Given the description of an element on the screen output the (x, y) to click on. 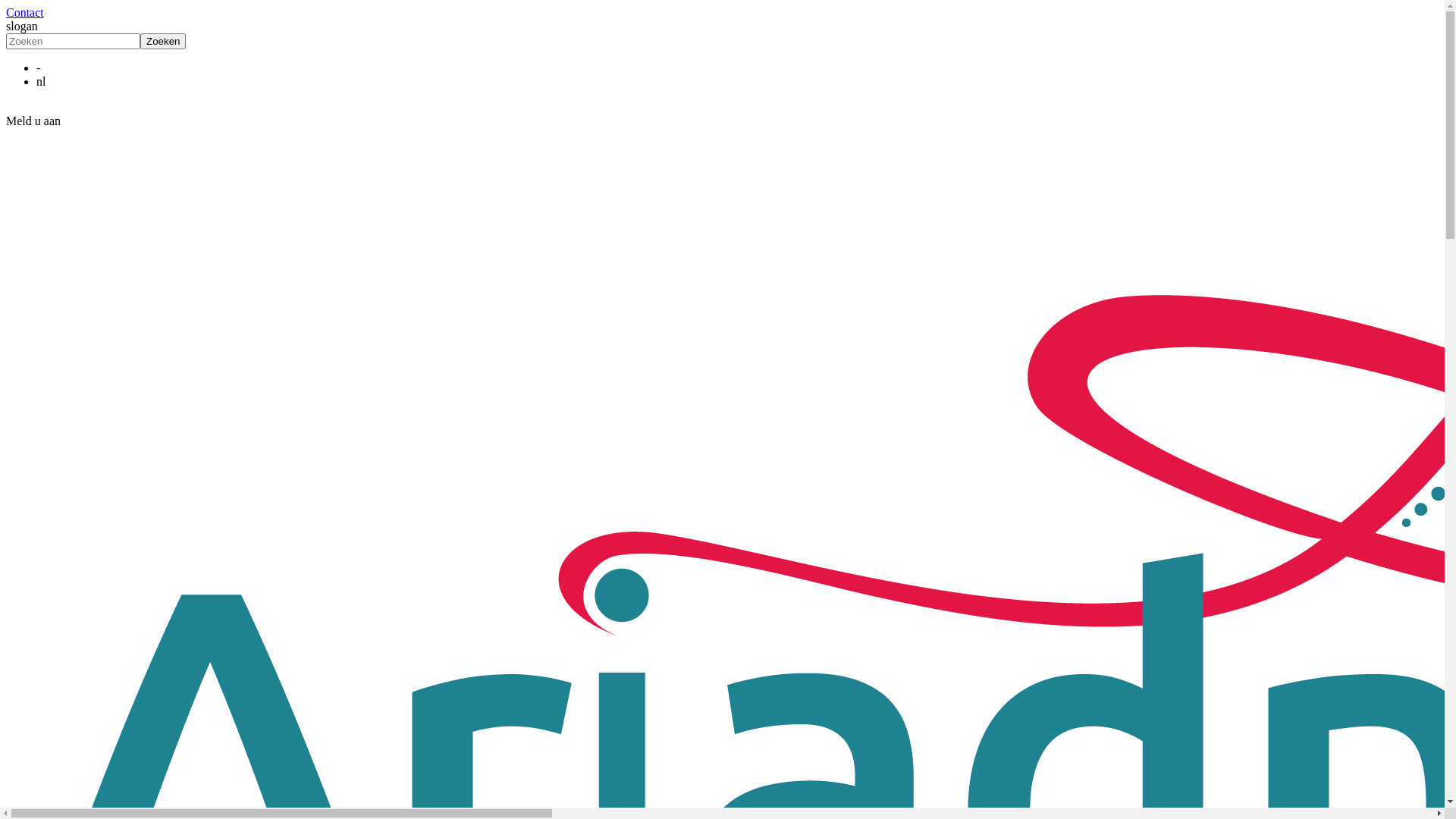
Meld u aan Element type: text (722, 121)
Zoeken Element type: text (162, 41)
Contact Element type: text (24, 12)
